Given the description of an element on the screen output the (x, y) to click on. 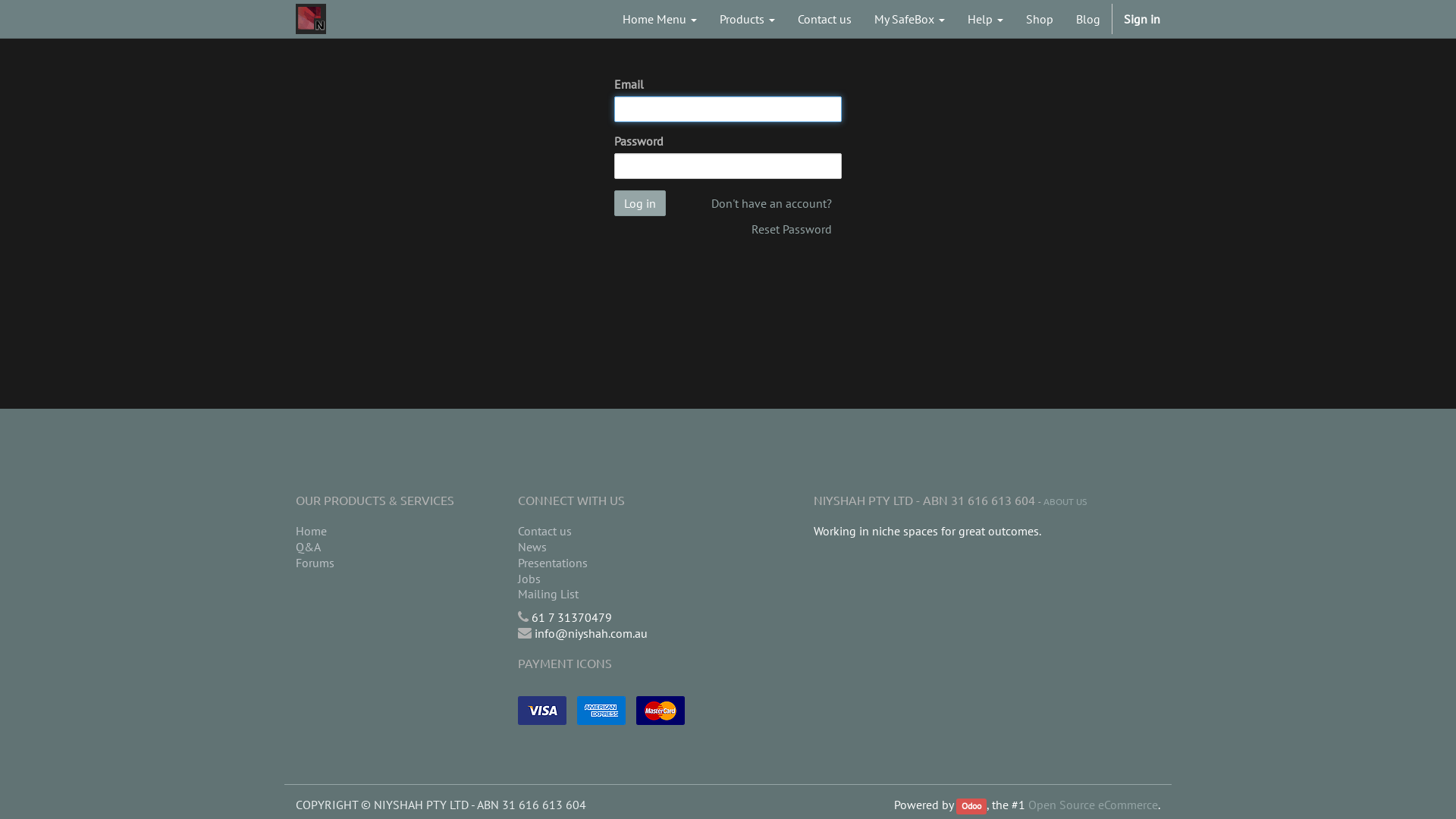
Help Element type: text (985, 18)
Log in Element type: text (639, 203)
Odoo Element type: text (971, 806)
Shop Element type: text (1039, 18)
Home Menu Element type: text (659, 18)
News Element type: text (616, 547)
Open Source eCommerce Element type: text (1092, 804)
Forums Element type: text (395, 563)
Mailing List Element type: text (616, 594)
Don't have an account? Element type: text (771, 203)
Presentations Element type: text (616, 563)
Contact us Element type: text (616, 531)
Reset Password Element type: text (791, 229)
Contact us Element type: text (824, 18)
Niyshah Pty Ltd - ABN 31 616 613 604 Element type: hover (310, 18)
My SafeBox Element type: text (909, 18)
Q&A Element type: text (395, 547)
Home Element type: text (395, 531)
Products Element type: text (747, 18)
ABOUT US Element type: text (1064, 501)
Sign in Element type: text (1141, 18)
Jobs Element type: text (616, 578)
Blog Element type: text (1087, 18)
